Given the description of an element on the screen output the (x, y) to click on. 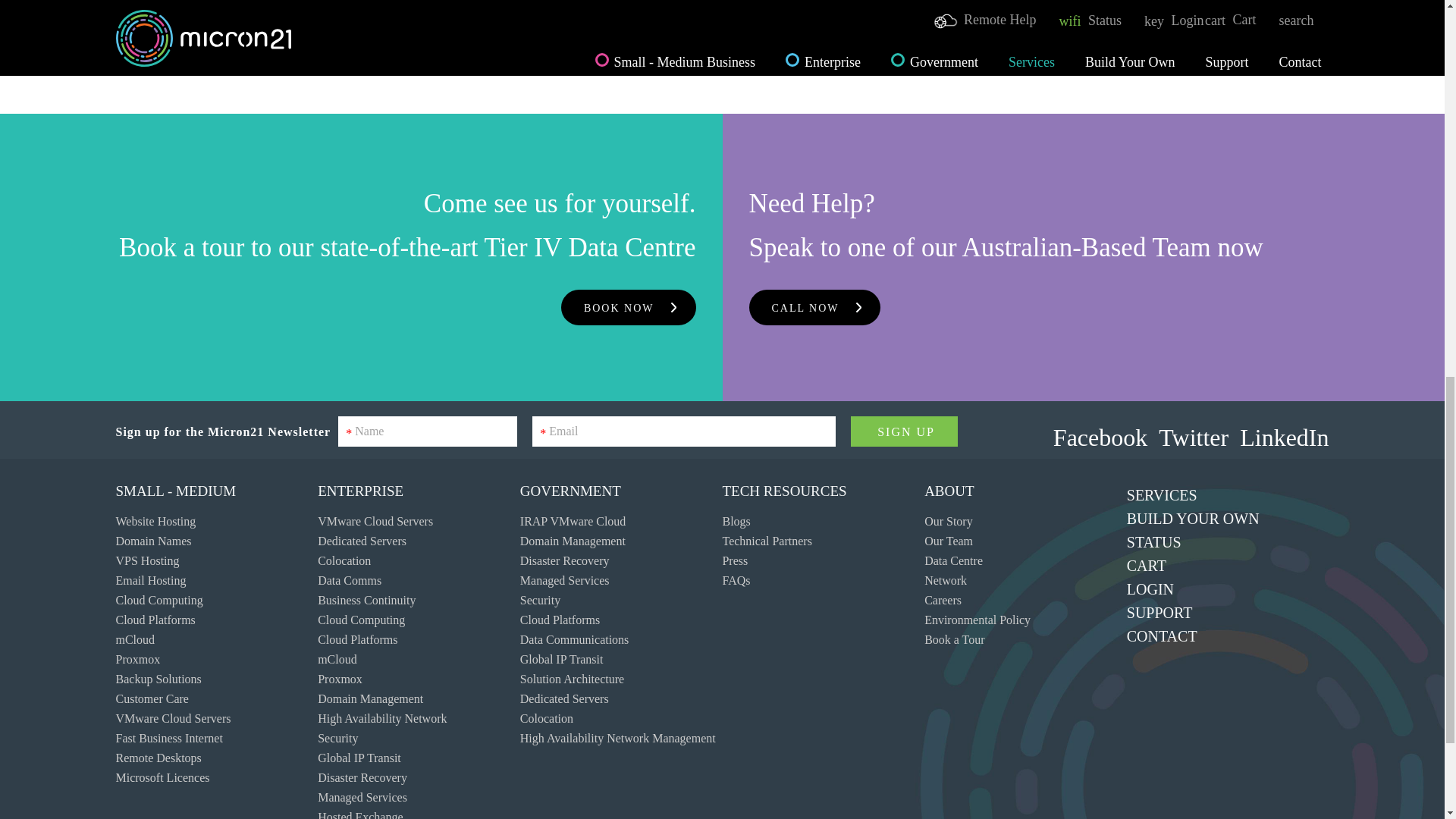
Sign up (904, 431)
